Given the description of an element on the screen output the (x, y) to click on. 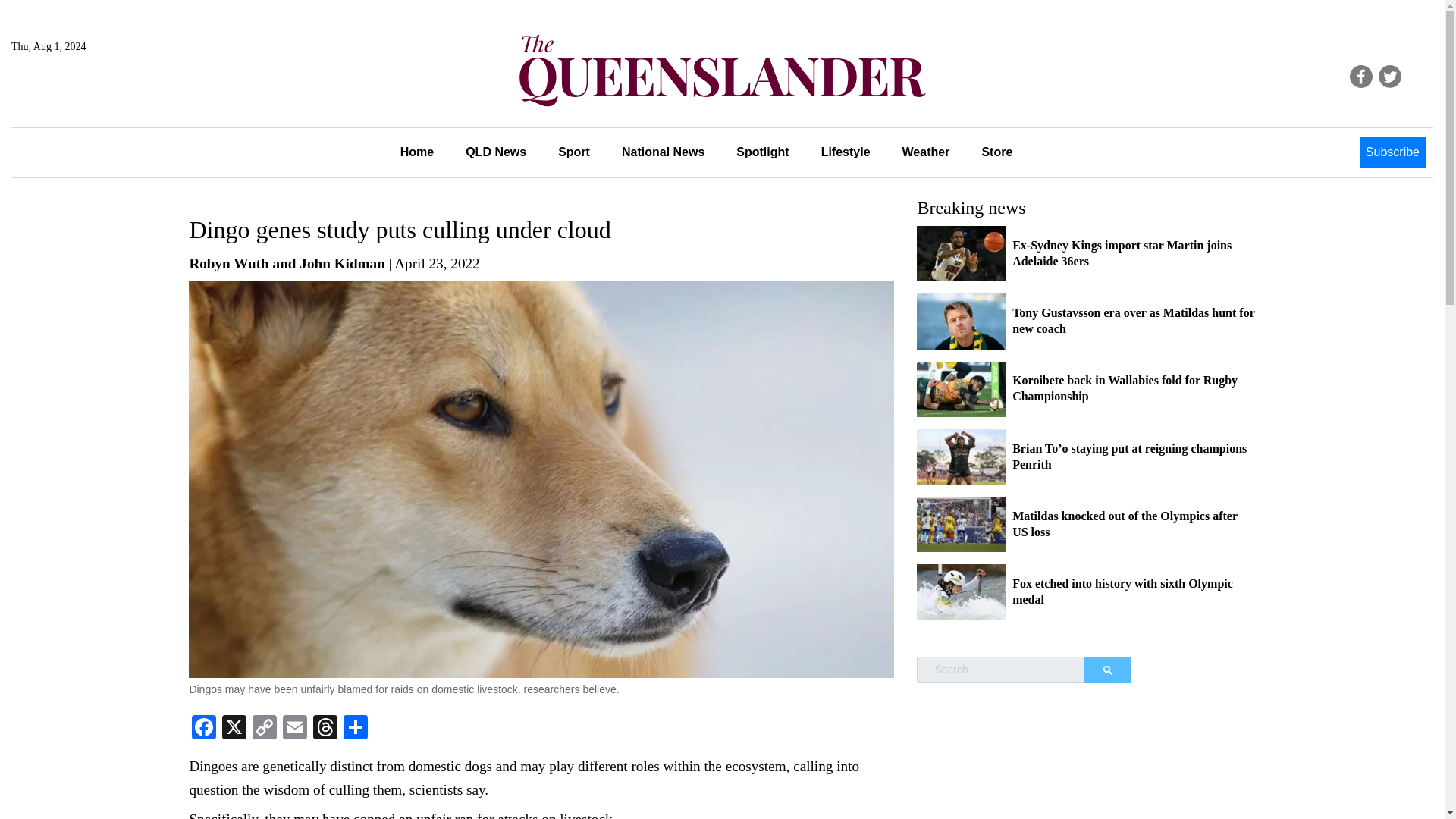
Spotlight (762, 152)
Threads (325, 728)
Threads (325, 728)
Subscribe (1392, 152)
National News (662, 152)
Lifestyle (845, 152)
Facebook (204, 728)
Share (355, 728)
Matildas knocked out of the Olympics after US loss (1124, 523)
X (233, 728)
